Given the description of an element on the screen output the (x, y) to click on. 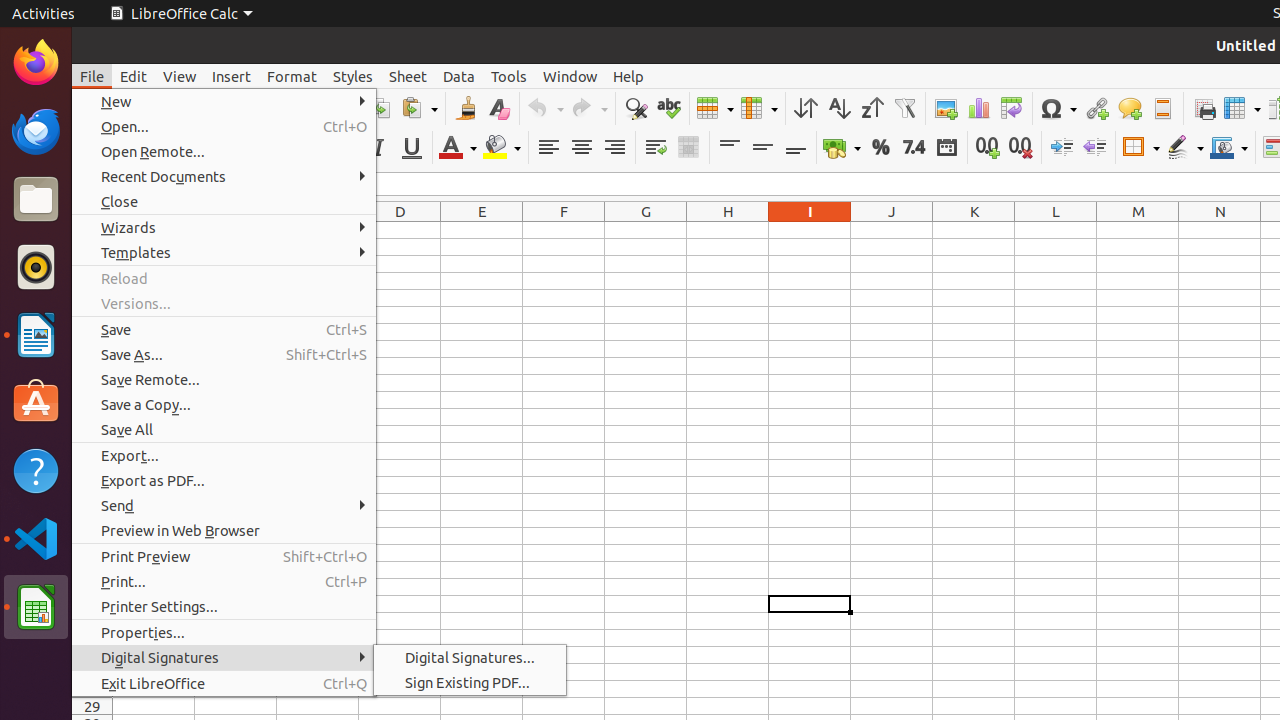
Freeze Rows and Columns Element type: push-button (1242, 108)
Align Center Element type: push-button (581, 147)
Printer Settings... Element type: menu-item (224, 606)
Currency Element type: push-button (842, 147)
Row Element type: push-button (715, 108)
